Given the description of an element on the screen output the (x, y) to click on. 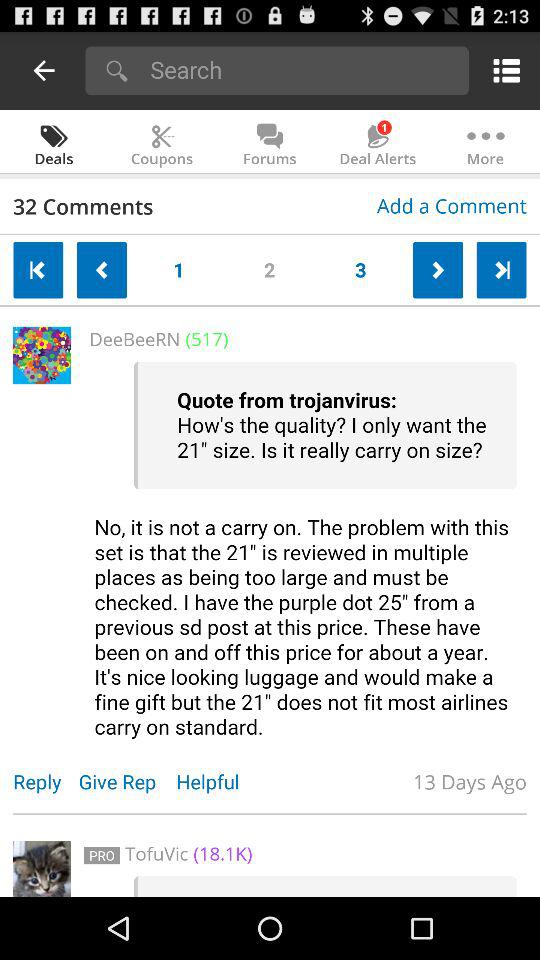
click the icon to the right of 1 icon (269, 266)
